Given the description of an element on the screen output the (x, y) to click on. 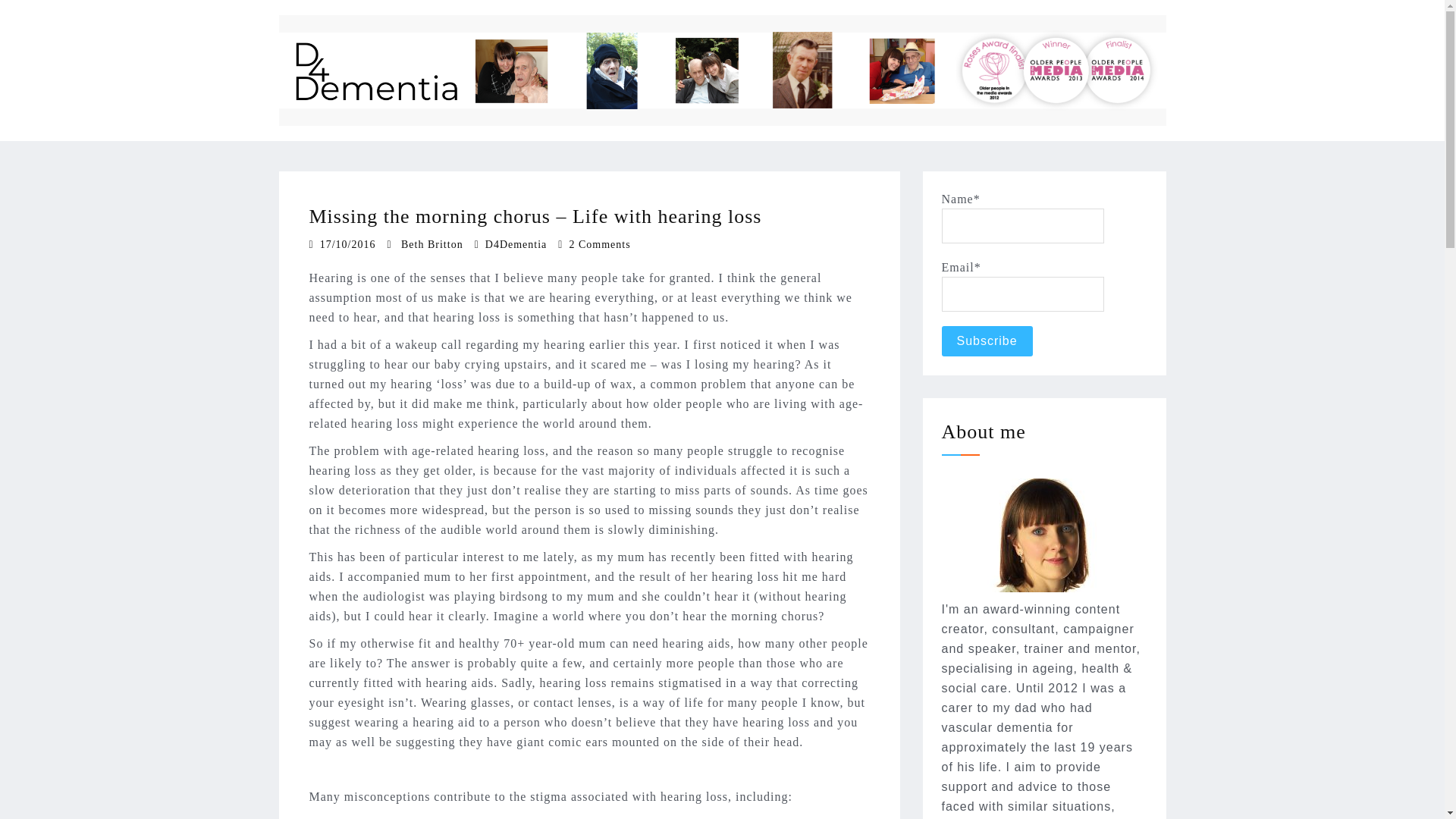
Beth Britton (432, 244)
D4Dementia (515, 244)
Subscribe (987, 340)
Subscribe (987, 340)
